Given the description of an element on the screen output the (x, y) to click on. 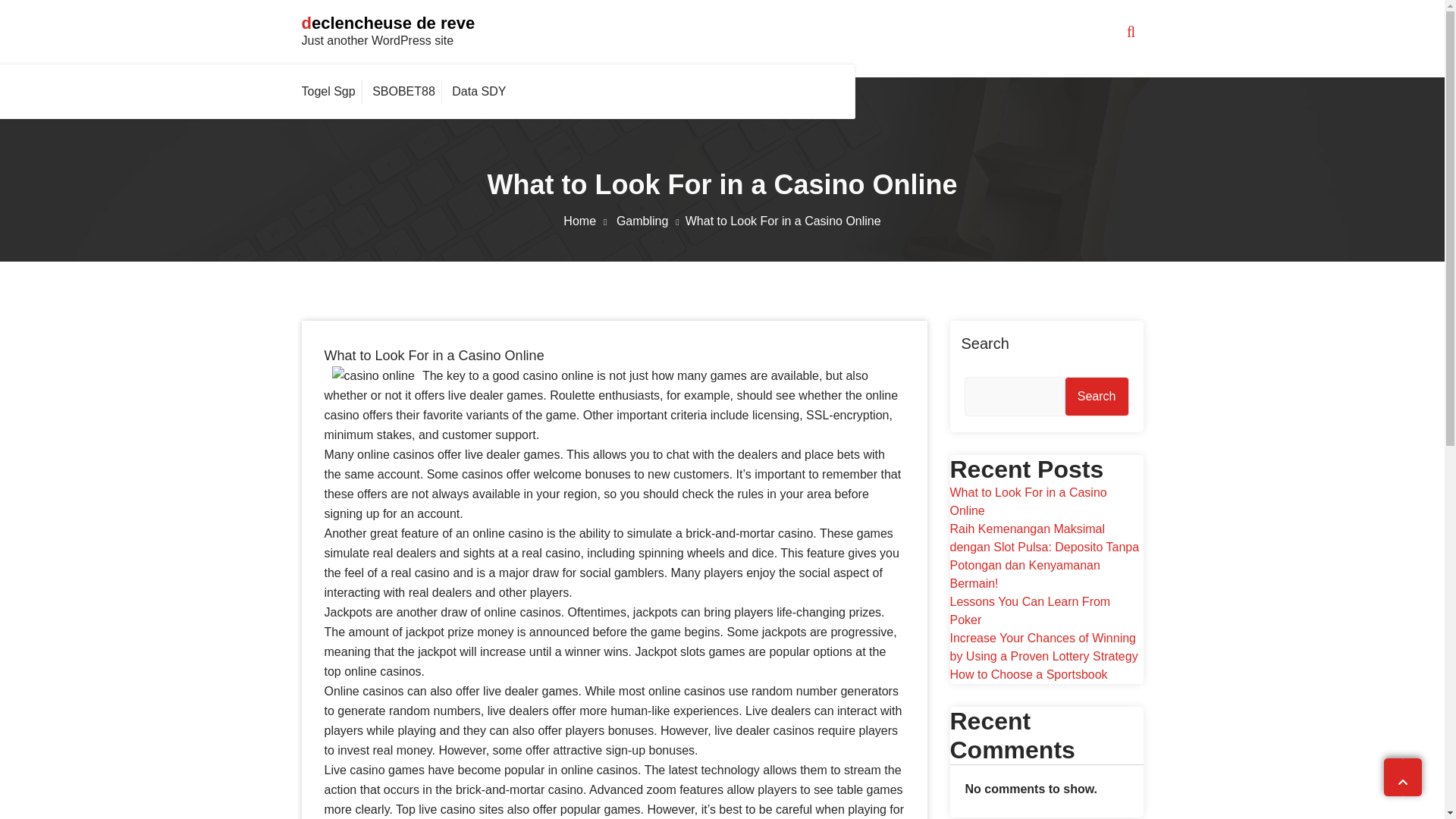
SBOBET88 (403, 91)
Home (587, 220)
Togel Sgp (331, 91)
What to Look For in a Casino Online (1027, 501)
SBOBET88 (403, 91)
Data SDY (478, 91)
Data SDY (478, 91)
Togel Sgp (331, 91)
Lessons You Can Learn From Poker (1029, 610)
